Given the description of an element on the screen output the (x, y) to click on. 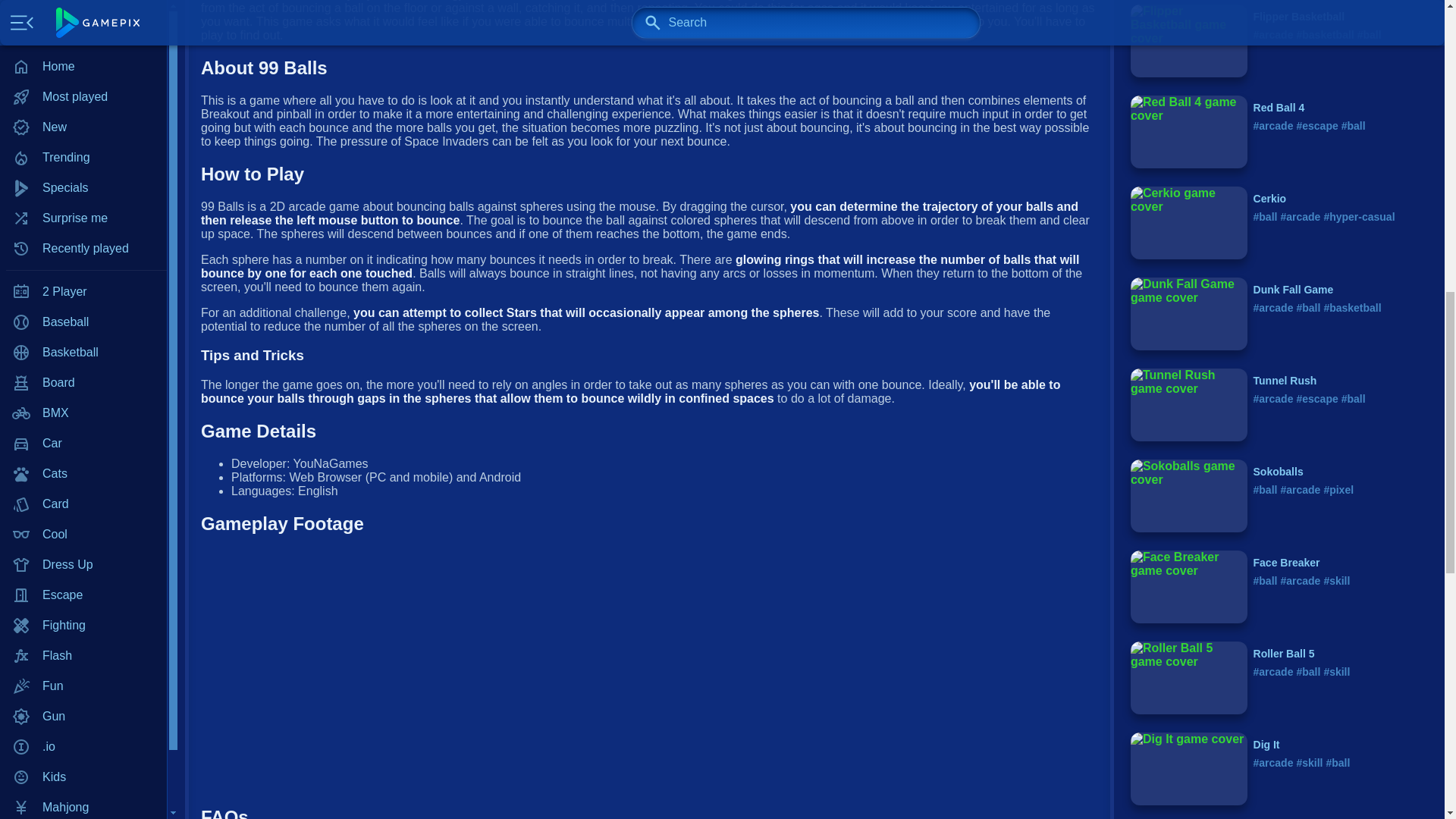
Poker (83, 79)
Snake (83, 261)
Racing (83, 140)
Math (83, 49)
Word (83, 352)
Solitaire (83, 231)
RPG (83, 170)
Soccer (83, 291)
Mario (83, 19)
Zombie (83, 382)
War (83, 322)
Puzzle (83, 110)
Shooter (83, 200)
Mahjong (83, 2)
